Given the description of an element on the screen output the (x, y) to click on. 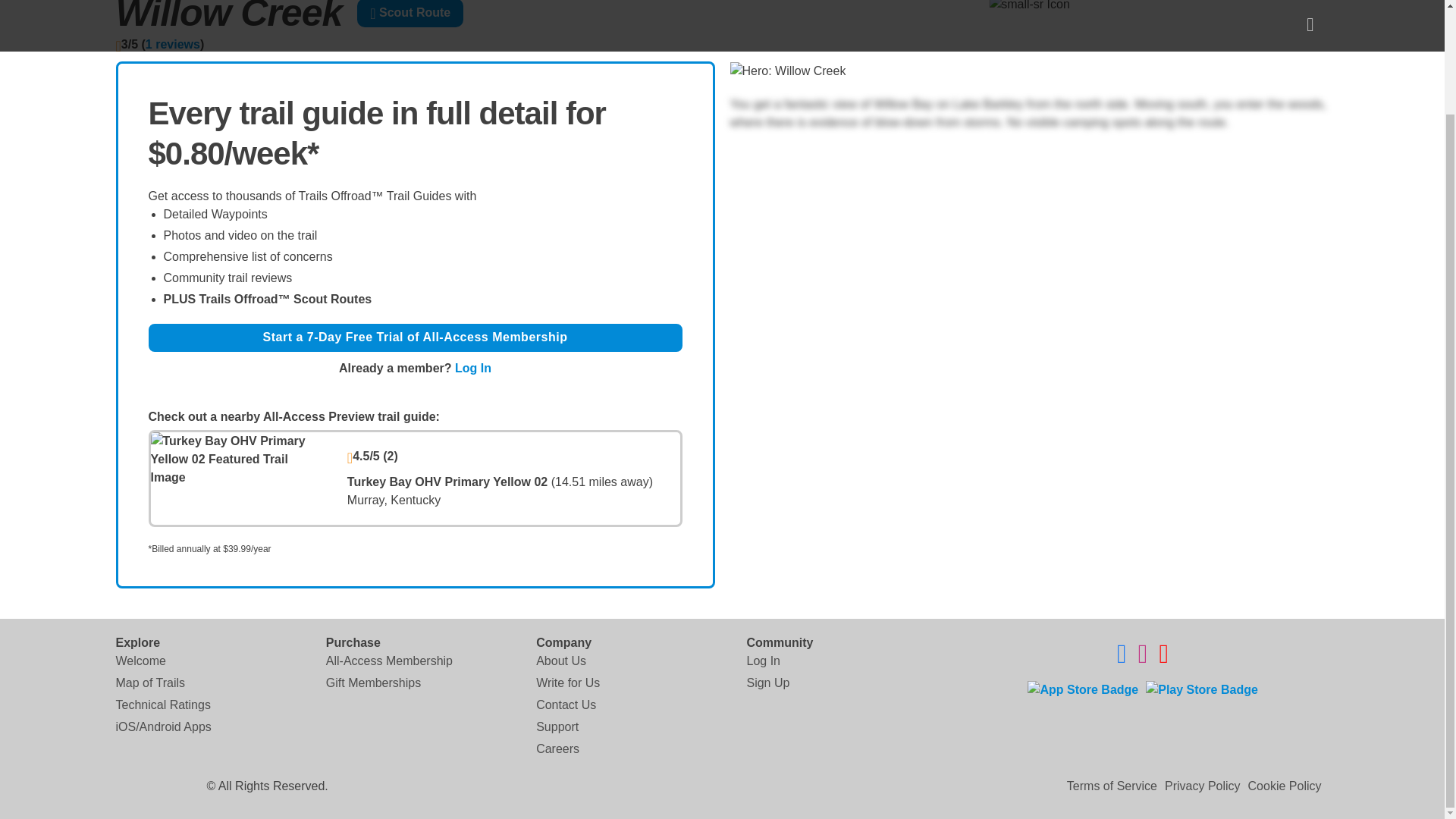
About Us (560, 660)
Support (556, 727)
Sign Up (767, 683)
Technical Ratings (162, 704)
Log In (761, 660)
1 reviews (172, 43)
Careers (557, 748)
Write for Us (567, 683)
All-Access Membership (389, 660)
Welcome (140, 660)
Privacy Policy (1202, 786)
Gift Memberships (373, 683)
Log In (473, 367)
Contact Us (565, 704)
Start a 7-Day Free Trial of All-Access Membership (415, 337)
